Given the description of an element on the screen output the (x, y) to click on. 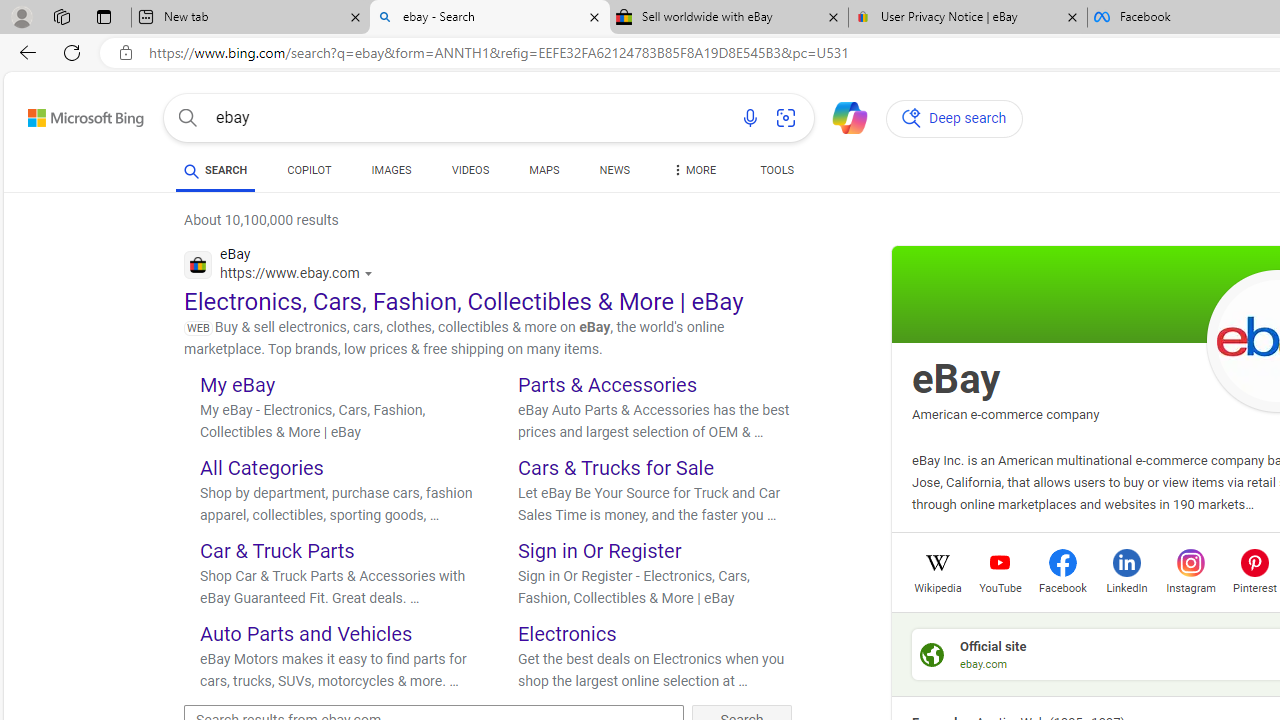
YouTube (1000, 586)
Sell worldwide with eBay (729, 17)
IMAGES (391, 173)
Cars & Trucks for Sale (616, 467)
